Given the description of an element on the screen output the (x, y) to click on. 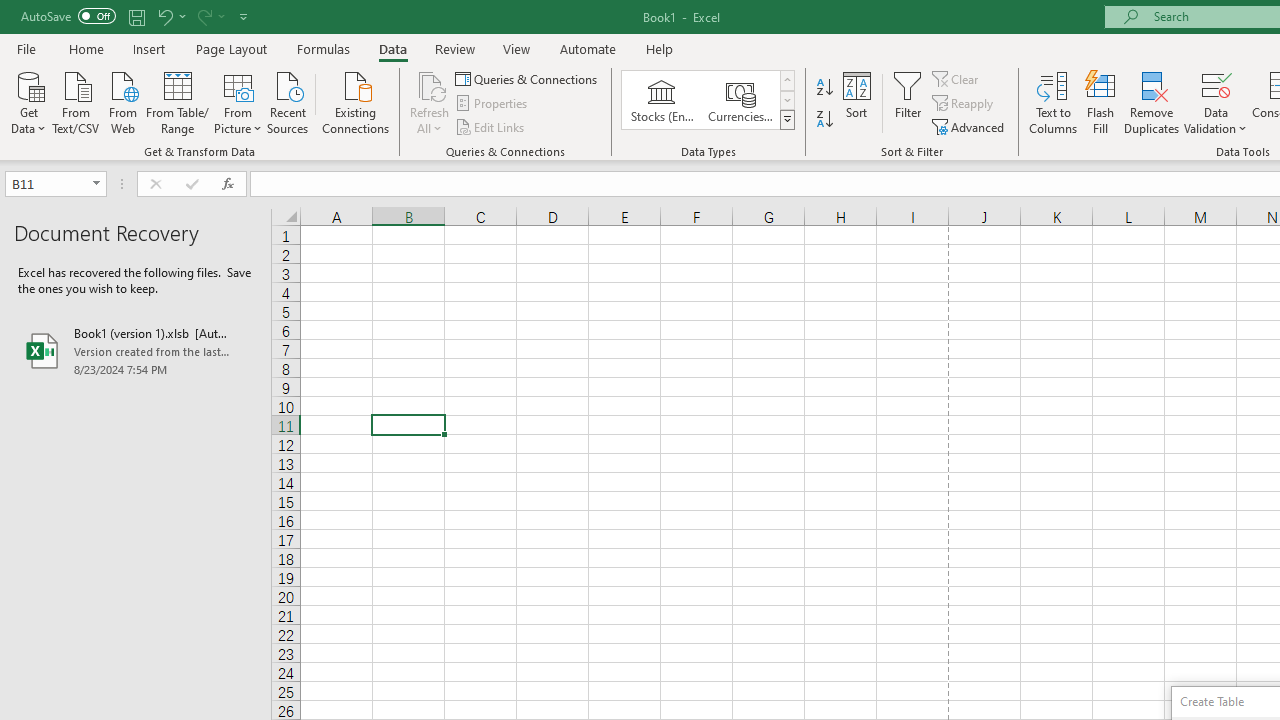
Filter (908, 102)
From Picture (238, 101)
Book1 (version 1).xlsb  [AutoRecovered] (136, 350)
Sort Z to A (824, 119)
View (517, 48)
Help (660, 48)
Review (454, 48)
Row up (786, 79)
Refresh All (429, 102)
Row Down (786, 100)
Insert (149, 48)
Reapply (964, 103)
Save (136, 15)
